Given the description of an element on the screen output the (x, y) to click on. 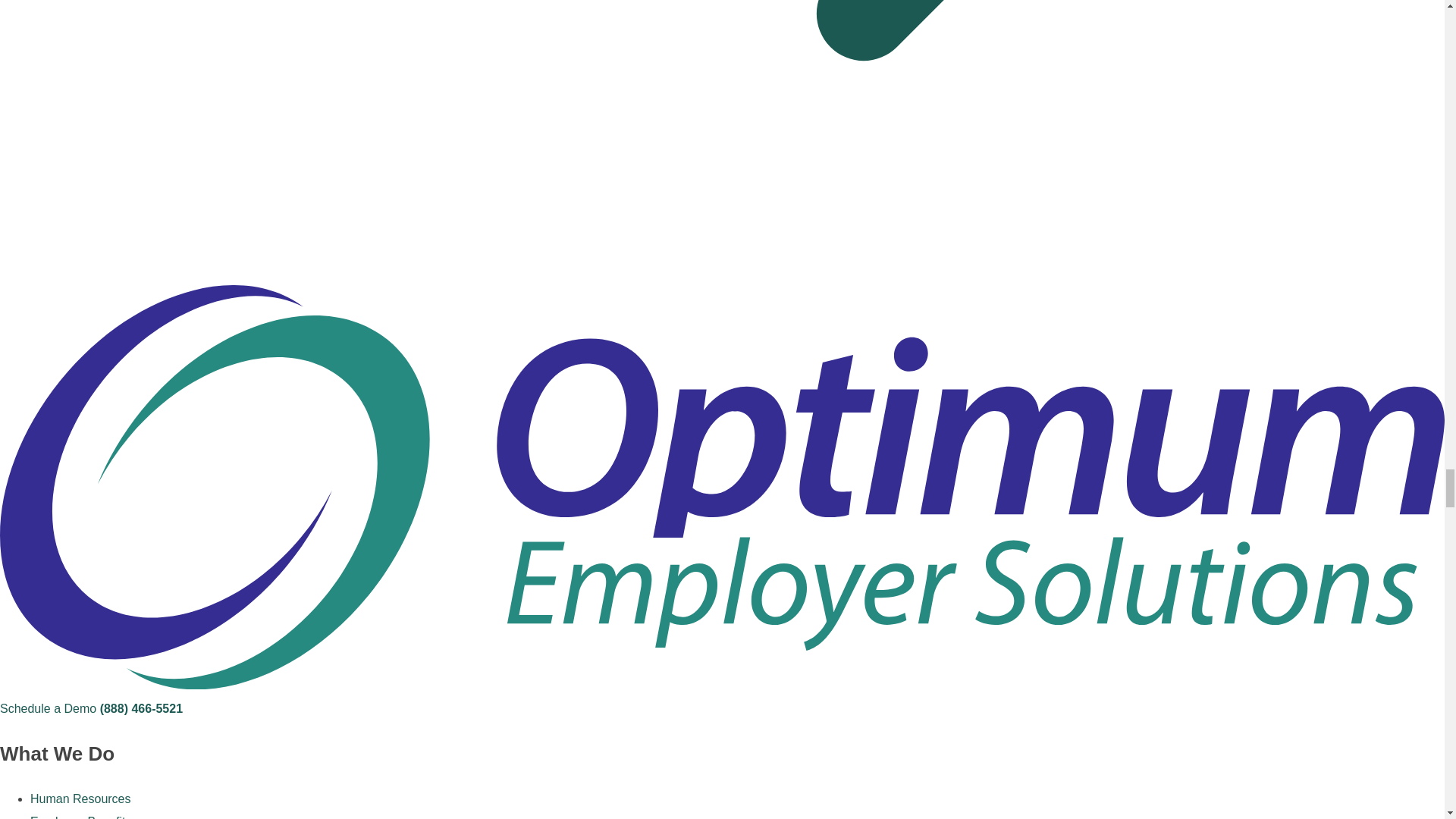
Schedule a Demo (48, 707)
Employee Benefits (80, 816)
Human Resources (80, 798)
